Given the description of an element on the screen output the (x, y) to click on. 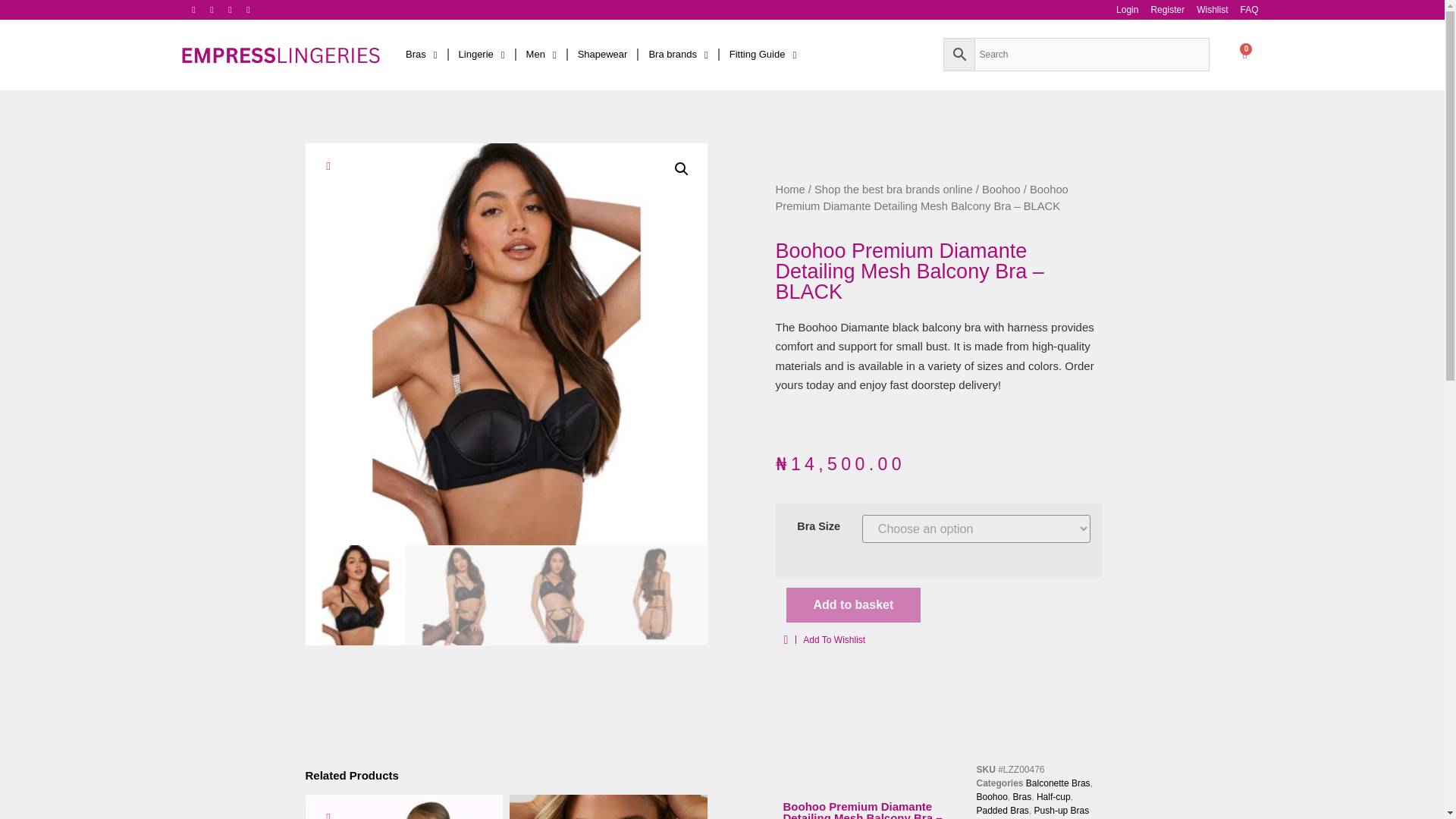
Bras (421, 54)
Wishlist (1212, 13)
Register (1167, 13)
Login (1126, 13)
FAQ (1248, 13)
Lingerie (481, 54)
